Given the description of an element on the screen output the (x, y) to click on. 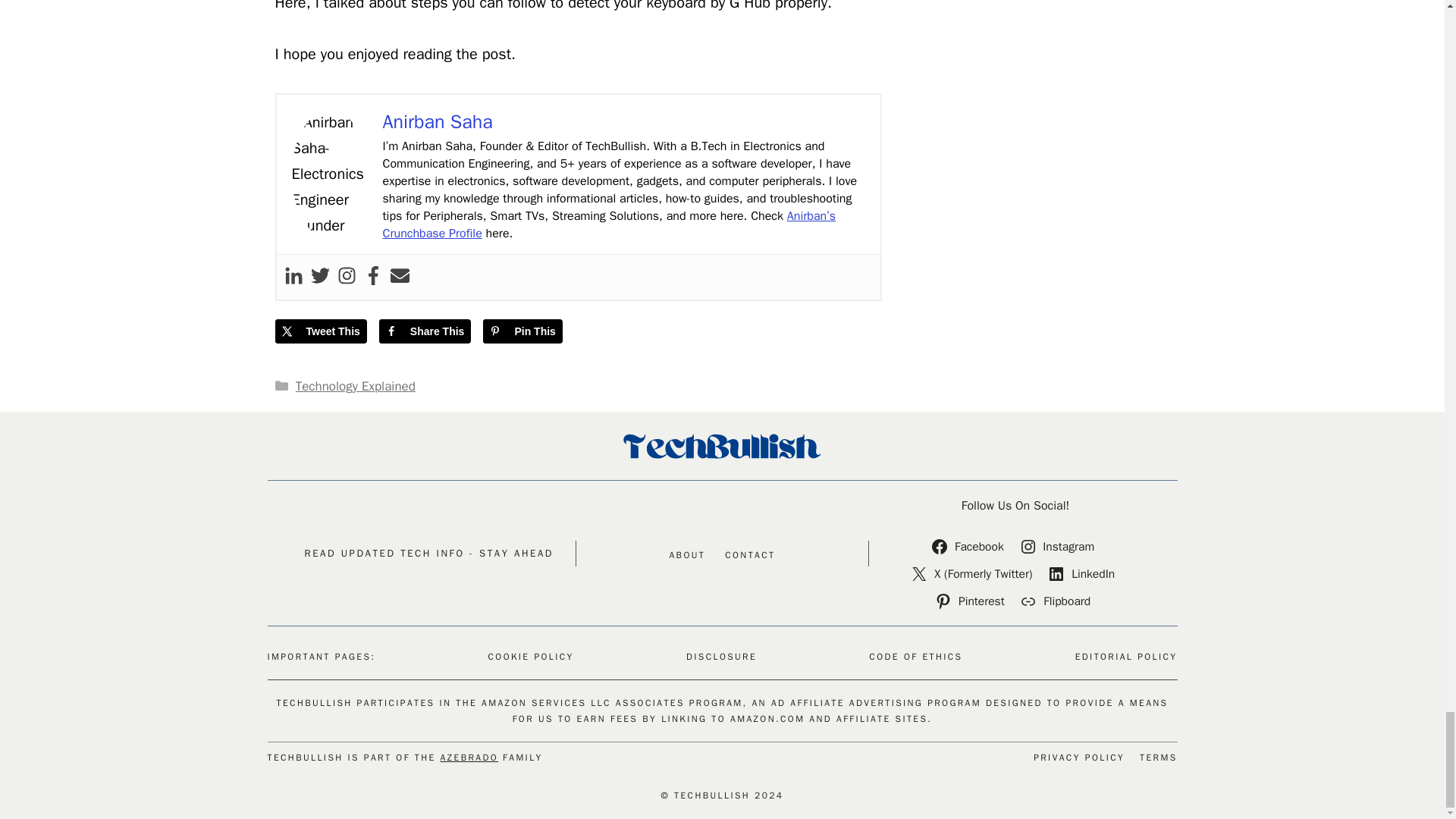
Save to Pinterest (522, 331)
Facebook (969, 546)
COOKIE POLICY (530, 656)
Tweet This (320, 331)
Share This (424, 331)
Instagram (1059, 546)
Pinterest (972, 601)
Anirban Saha (436, 121)
CONTACT (749, 554)
Share on Facebook (424, 331)
